Given the description of an element on the screen output the (x, y) to click on. 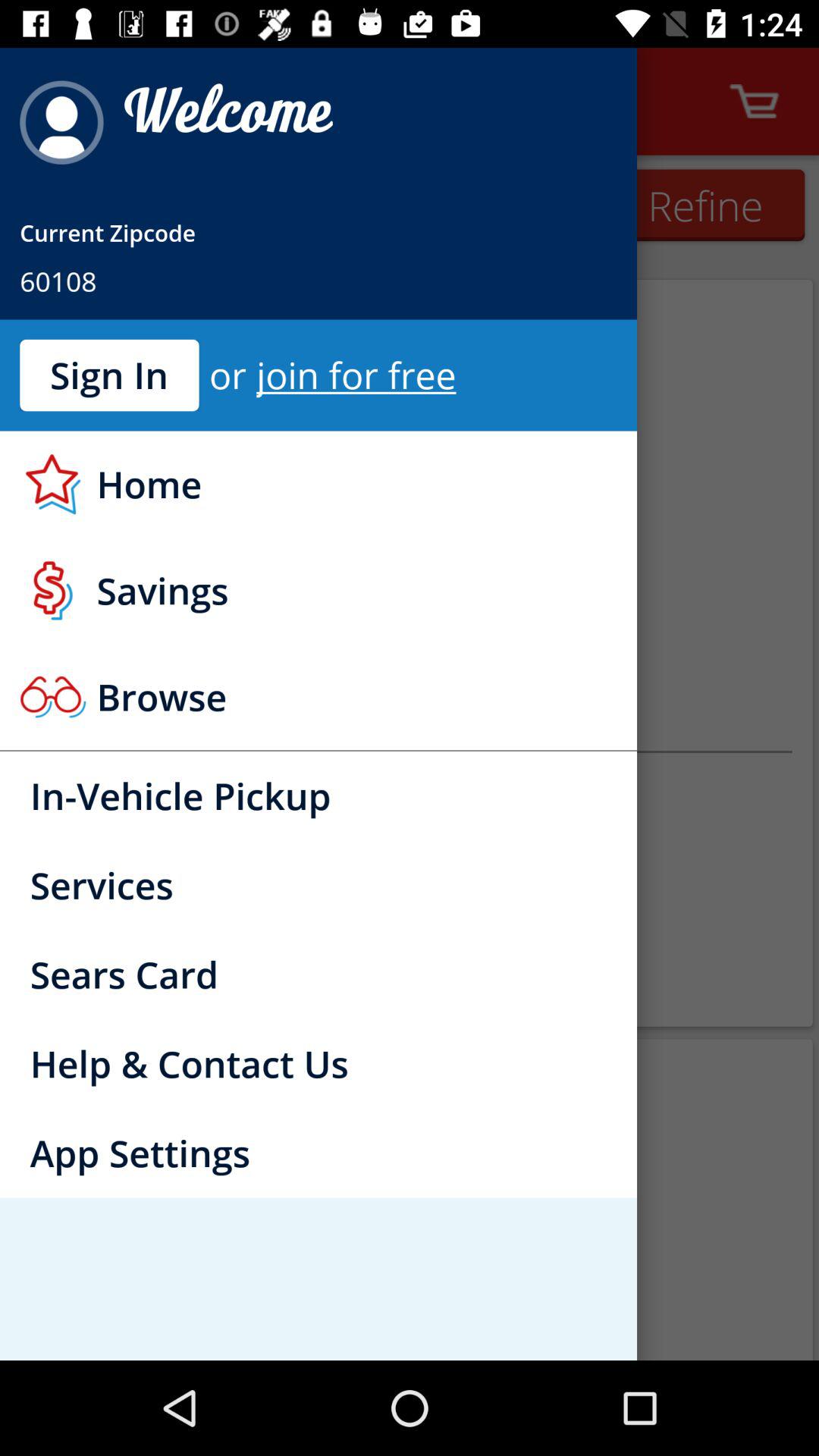
select the text 60108 on the web page (58, 281)
click on the button at the right side of the page (705, 205)
click on sign in above home (109, 374)
